Given the description of an element on the screen output the (x, y) to click on. 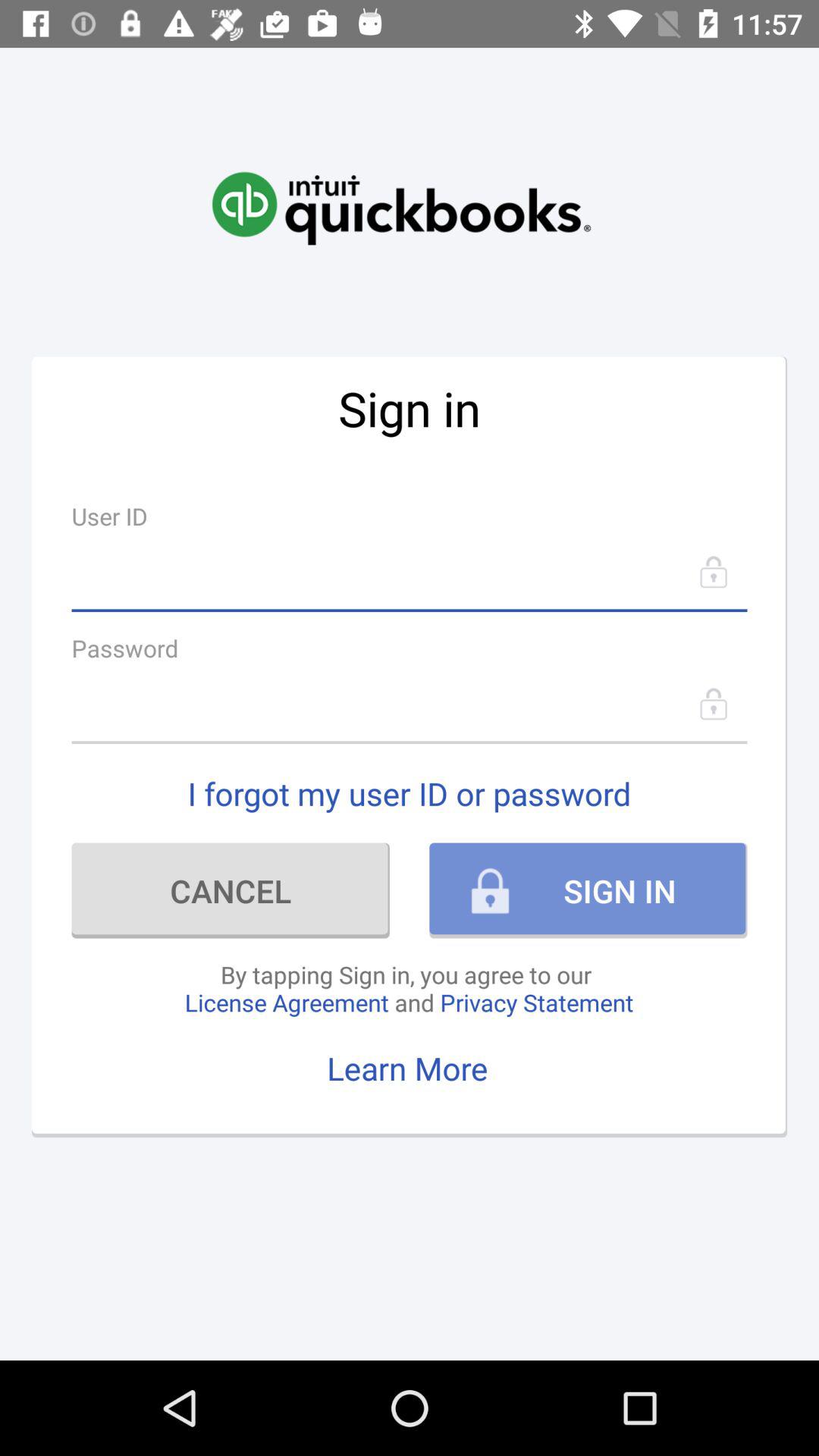
select the item below password icon (409, 703)
